Given the description of an element on the screen output the (x, y) to click on. 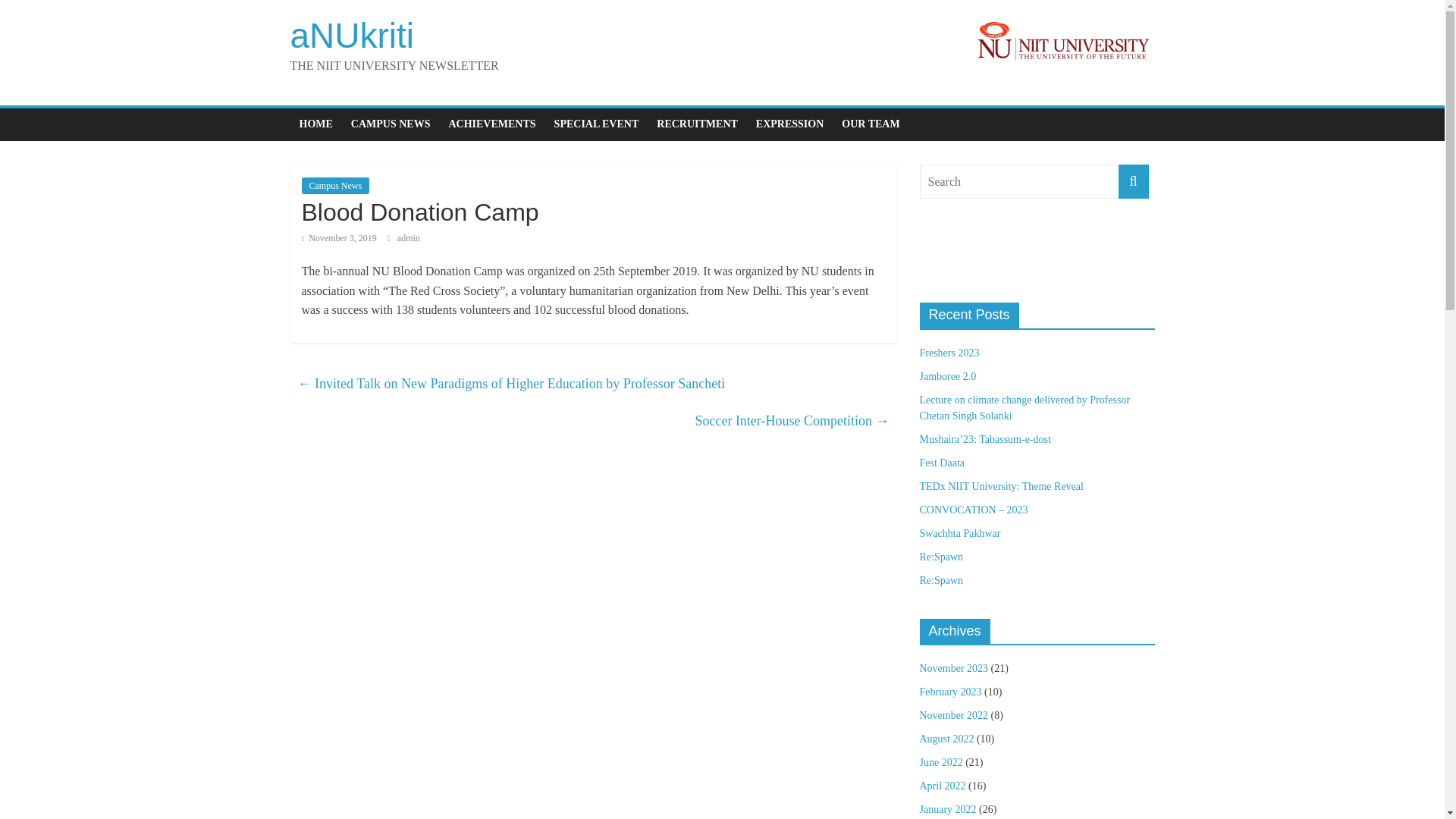
Fest Daata (940, 462)
November 2023 (953, 668)
Re:Spawn (940, 556)
February 2023 (949, 691)
RECRUITMENT (696, 124)
EXPRESSION (789, 124)
November 2022 (953, 715)
HOME (314, 124)
CAMPUS NEWS (390, 124)
Swachhta Pakhwar (959, 532)
aNUkriti (351, 35)
4:10 pm (339, 237)
aNUkriti (351, 35)
June 2022 (940, 762)
